Given the description of an element on the screen output the (x, y) to click on. 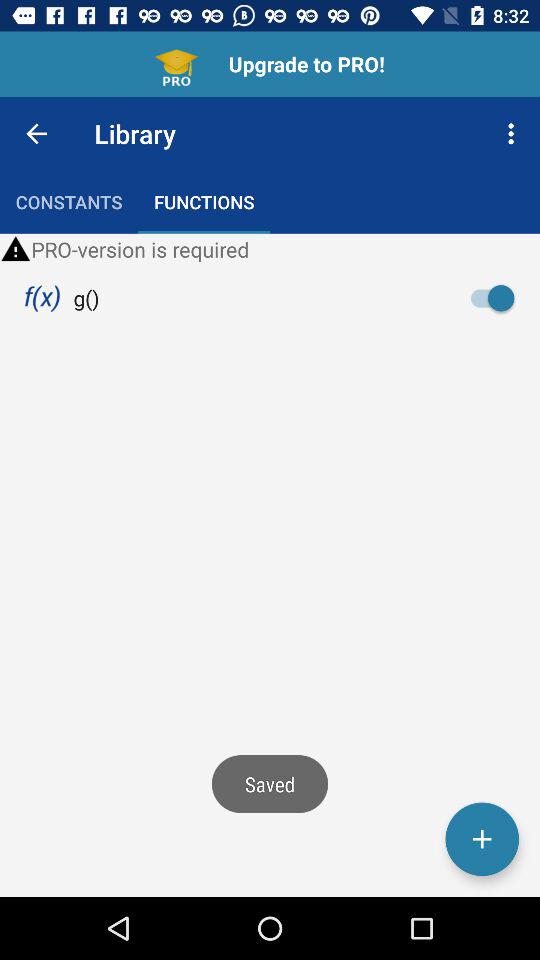
choose the item below the pro version is (498, 297)
